Given the description of an element on the screen output the (x, y) to click on. 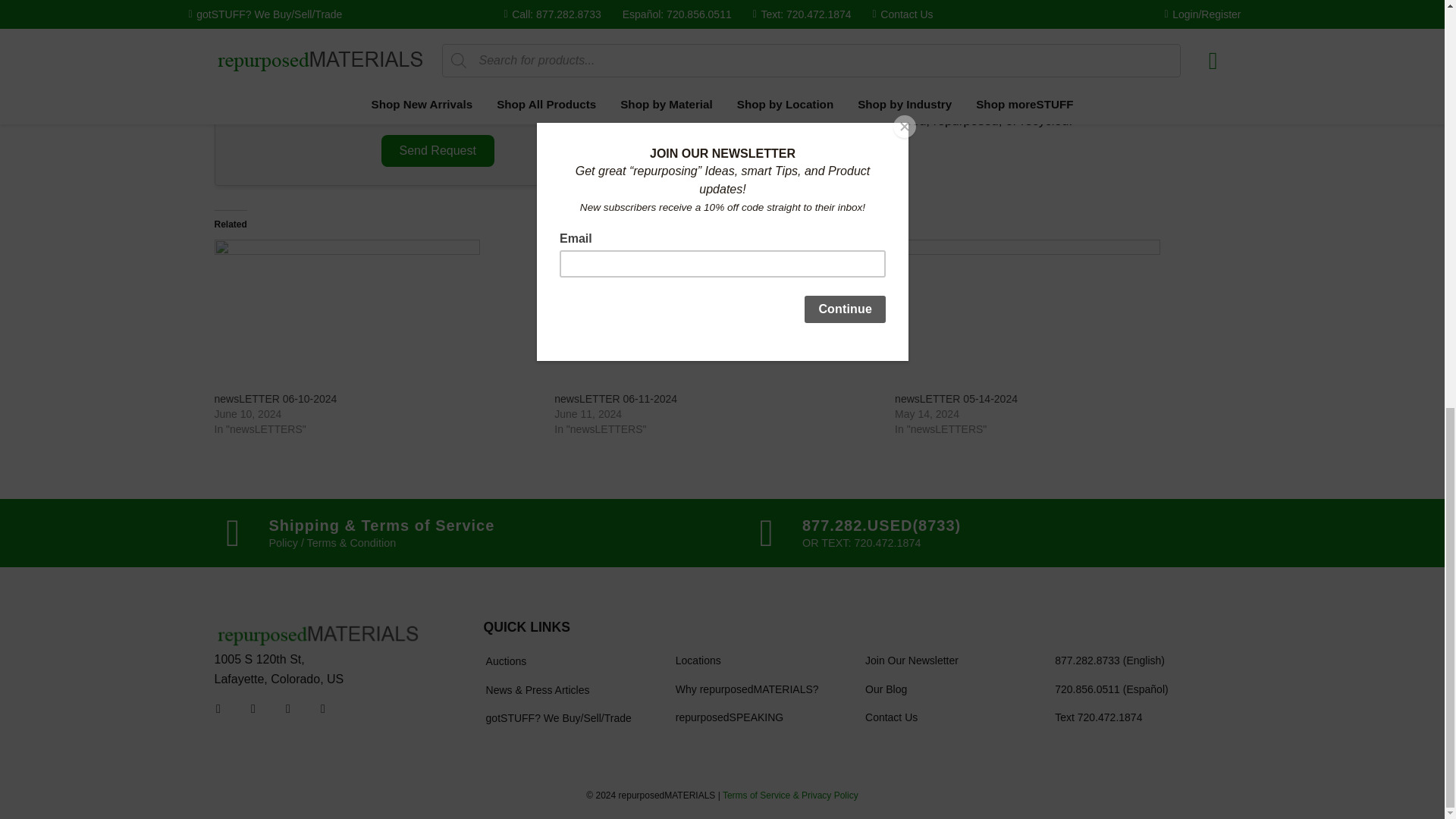
Instagram (253, 708)
newsLETTER 06-10-2024 (275, 398)
Youtube (288, 708)
Send Request (438, 151)
Facebook (219, 708)
newsLETTER 05-14-2024 (956, 398)
newsLETTER 06-11-2024 (716, 315)
newsLETTER 06-11-2024 (615, 398)
newsLETTER 05-14-2024 (1057, 315)
newsLETTER 06-10-2024 (376, 315)
rpm-WEBSITE-logo2 (318, 634)
